Given the description of an element on the screen output the (x, y) to click on. 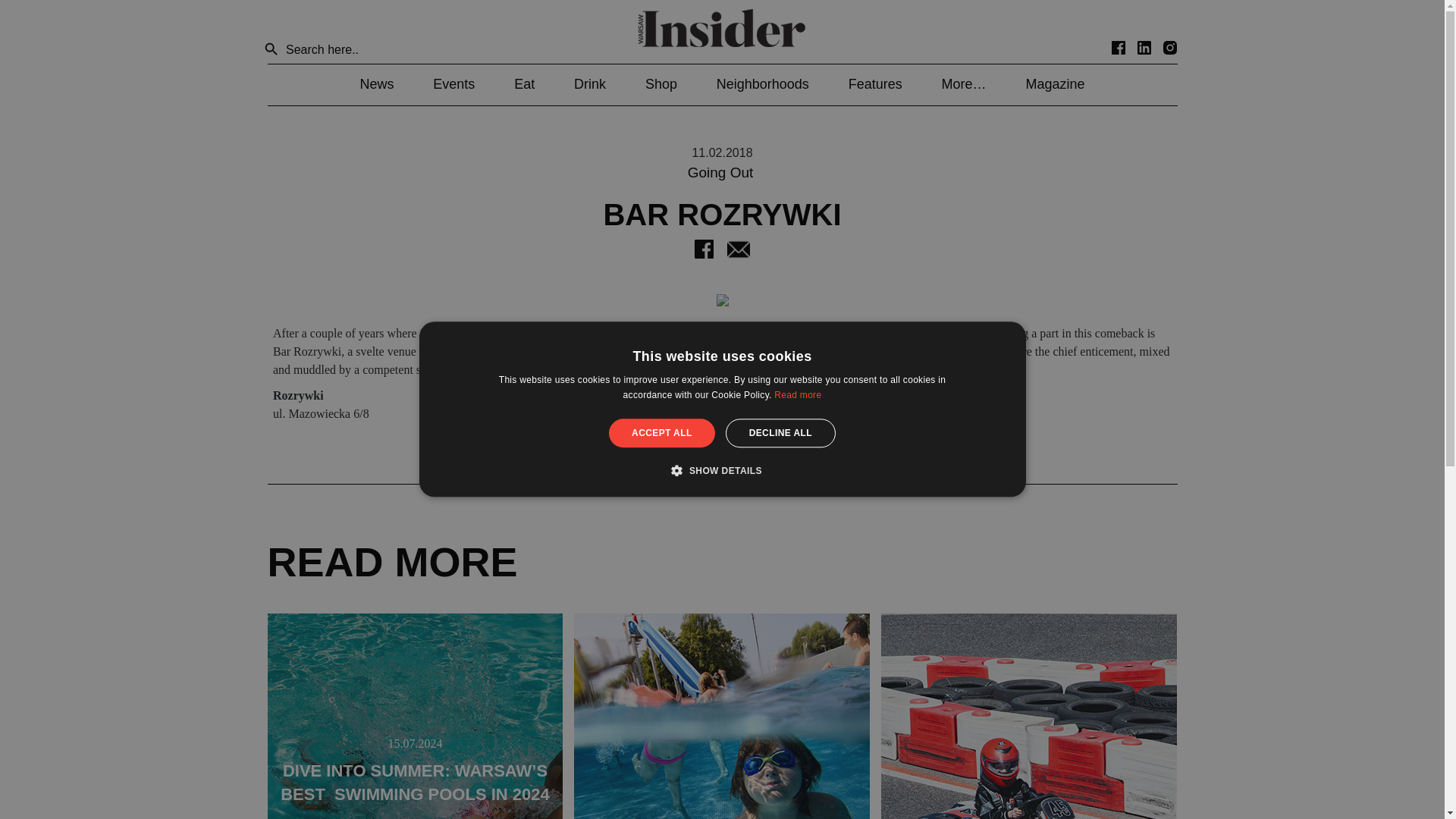
Shop (661, 83)
Neighborhoods (762, 83)
Features (875, 83)
News (376, 83)
Eat (523, 83)
Drink (589, 83)
Events (453, 83)
Magazine (1054, 83)
Search Button (271, 49)
